Given the description of an element on the screen output the (x, y) to click on. 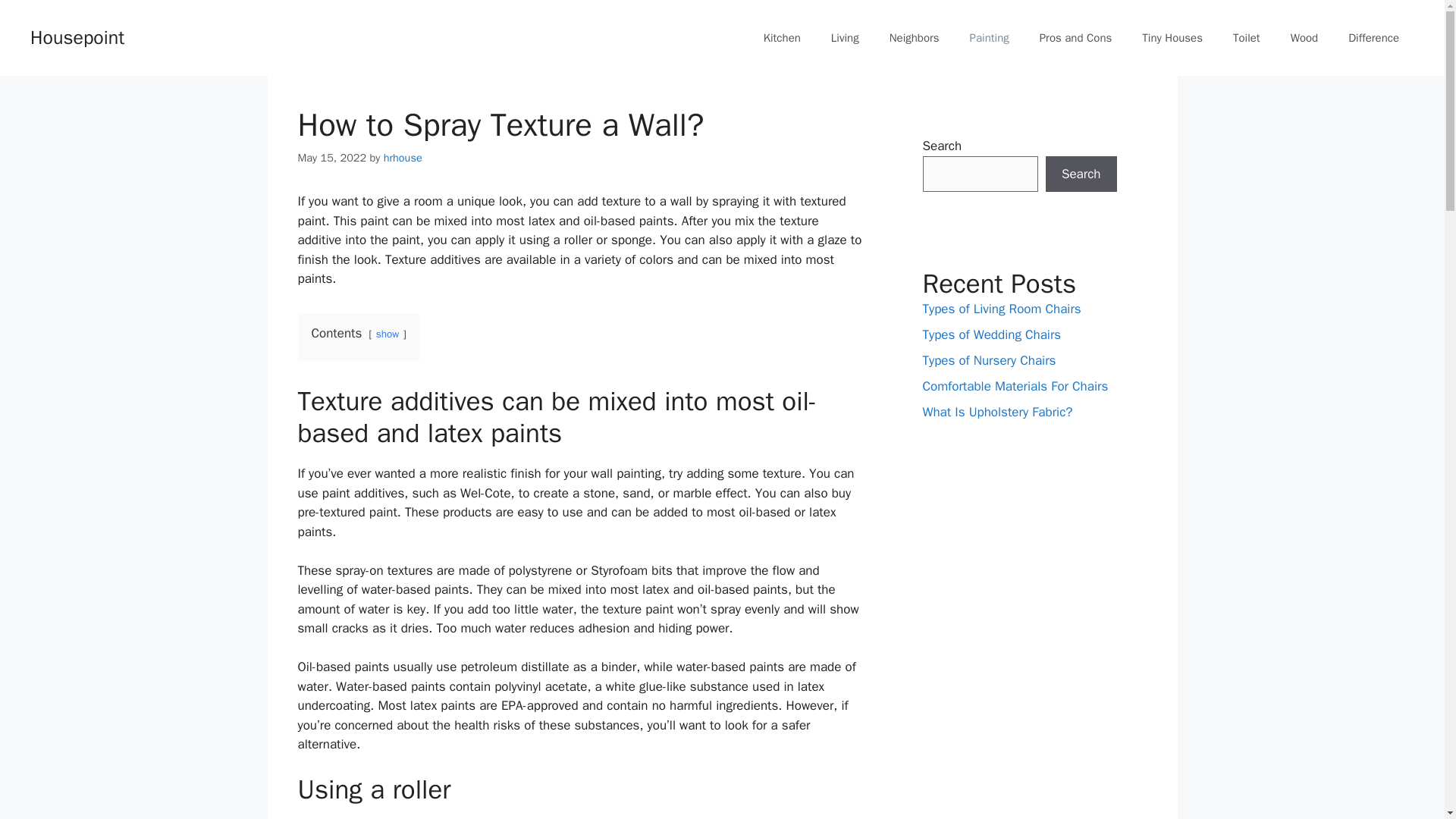
View all posts by hrhouse (403, 157)
Types of Living Room Chairs (1000, 308)
Types of Wedding Chairs (991, 334)
Toilet (1246, 37)
Housepoint (76, 37)
Tiny Houses (1171, 37)
show (386, 333)
Pros and Cons (1075, 37)
Difference (1373, 37)
hrhouse (403, 157)
